Given the description of an element on the screen output the (x, y) to click on. 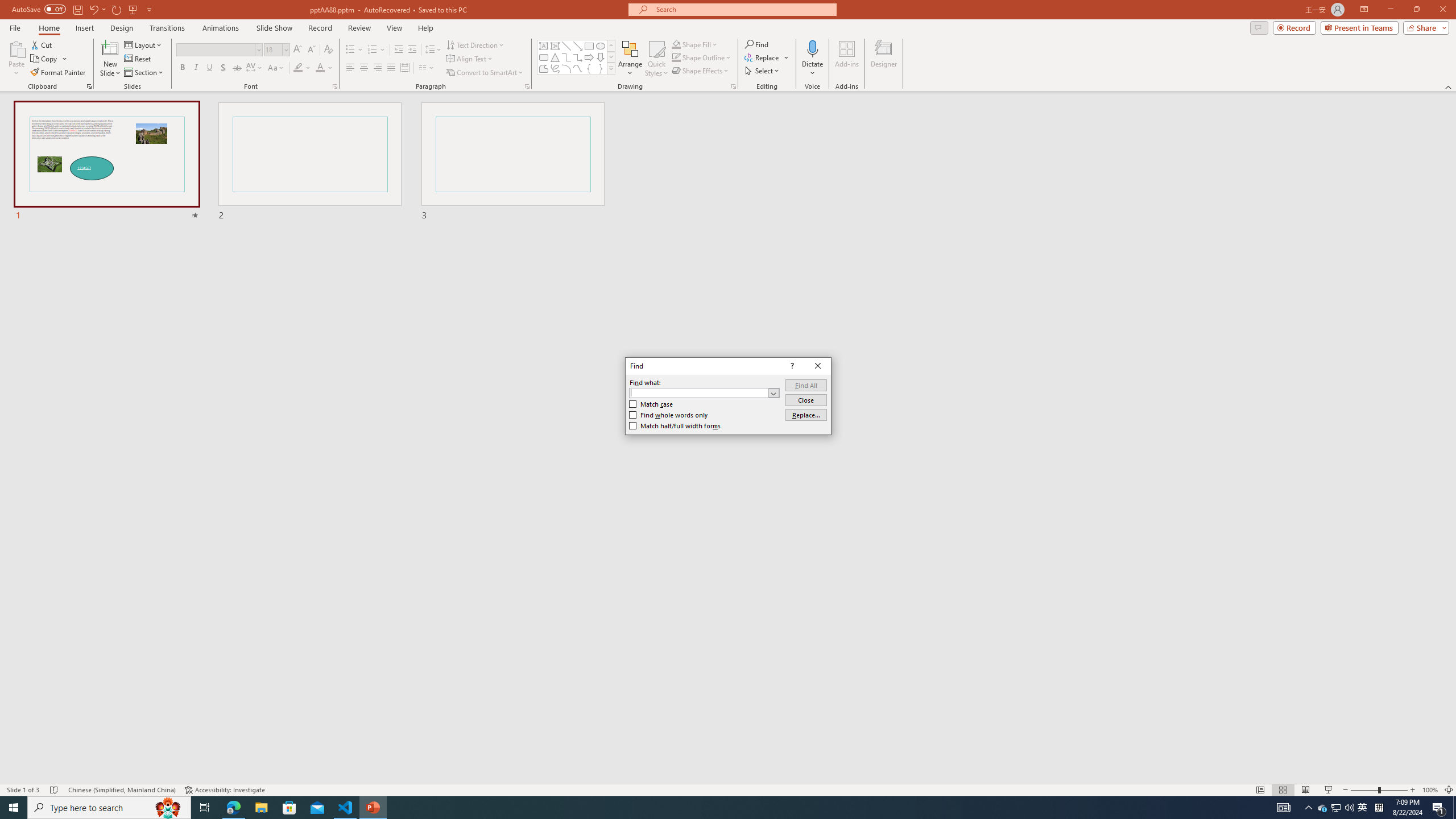
Find whole words only (668, 414)
Shape Outline Teal, Accent 1 (675, 56)
